Given the description of an element on the screen output the (x, y) to click on. 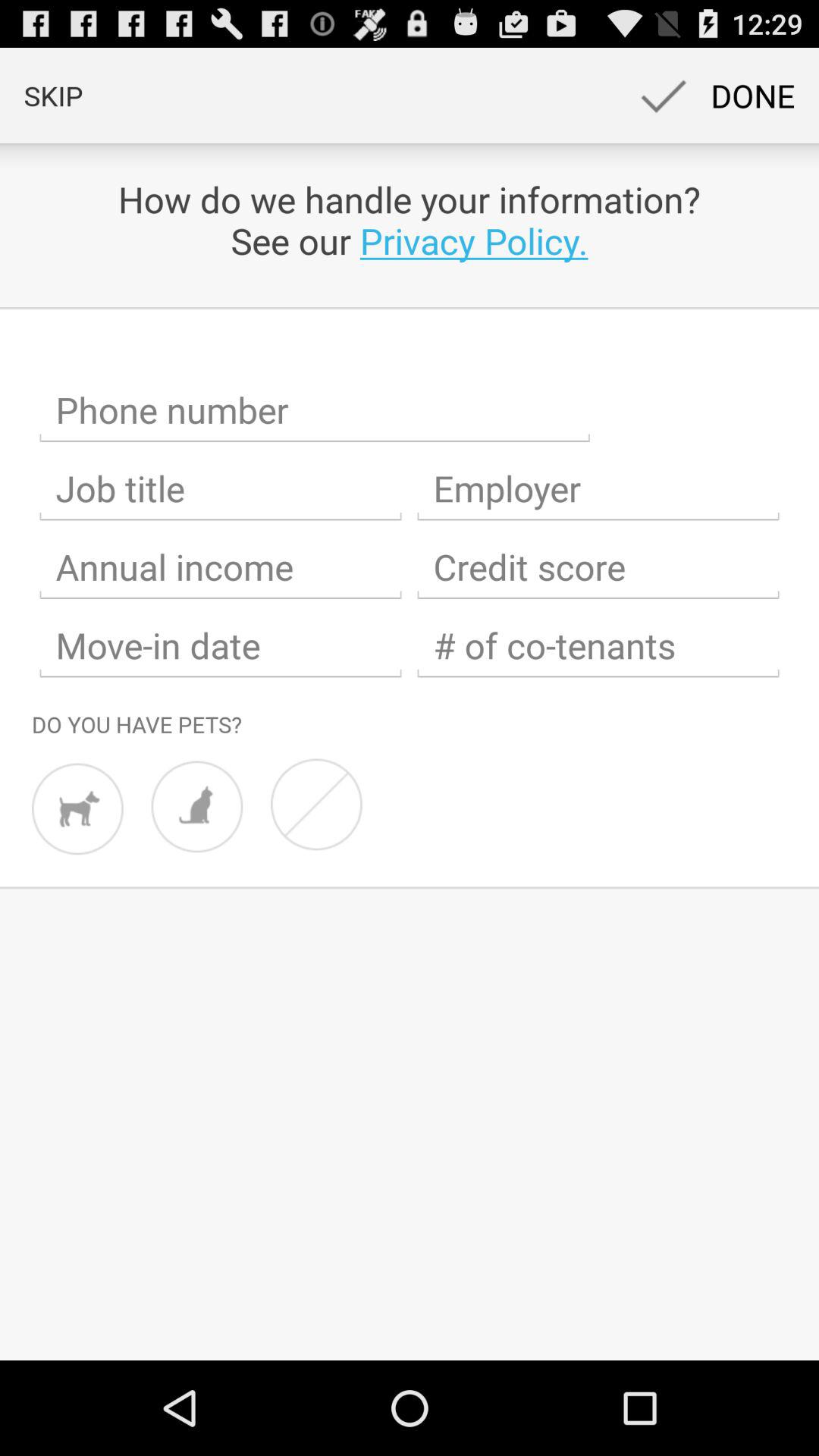
enter job title (220, 488)
